Given the description of an element on the screen output the (x, y) to click on. 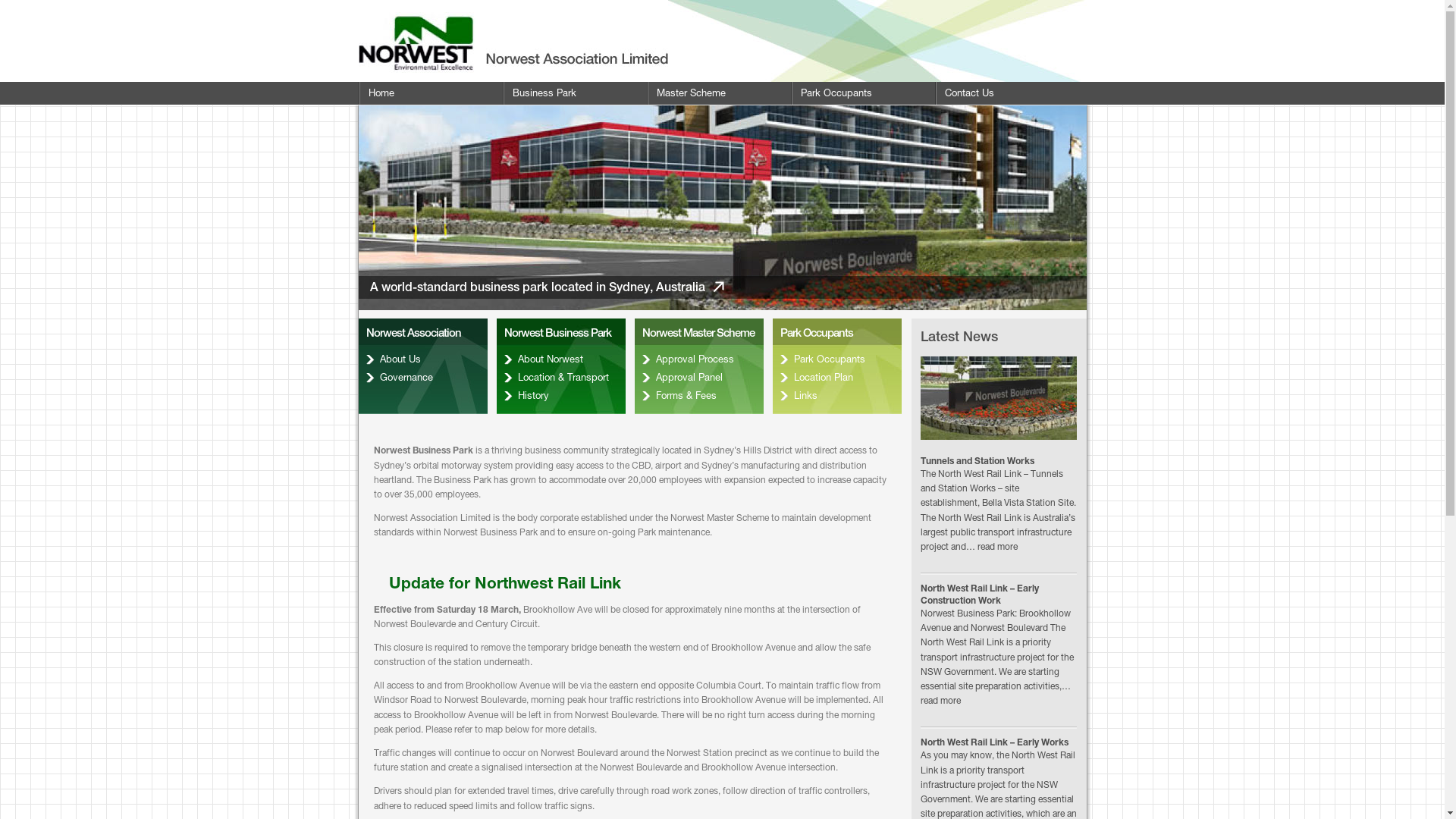
Tunnels and Station Works Element type: text (977, 460)
Approval Panel Element type: text (698, 377)
Forms & Fees Element type: text (698, 395)
Links Element type: text (836, 395)
Approval Process Element type: text (698, 359)
History Element type: text (560, 395)
Master Scheme Element type: text (718, 92)
Business Park Element type: text (574, 92)
Contact Us Element type: text (1006, 92)
Location Plan Element type: text (836, 377)
Park Occupants Element type: text (836, 359)
Home Element type: text (429, 92)
About Us Element type: text (422, 359)
read more Element type: text (940, 700)
About Norwest Element type: text (560, 359)
read more Element type: text (996, 546)
Location & Transport Element type: text (560, 377)
Park Occupants Element type: text (862, 92)
Governance Element type: text (422, 377)
